Given the description of an element on the screen output the (x, y) to click on. 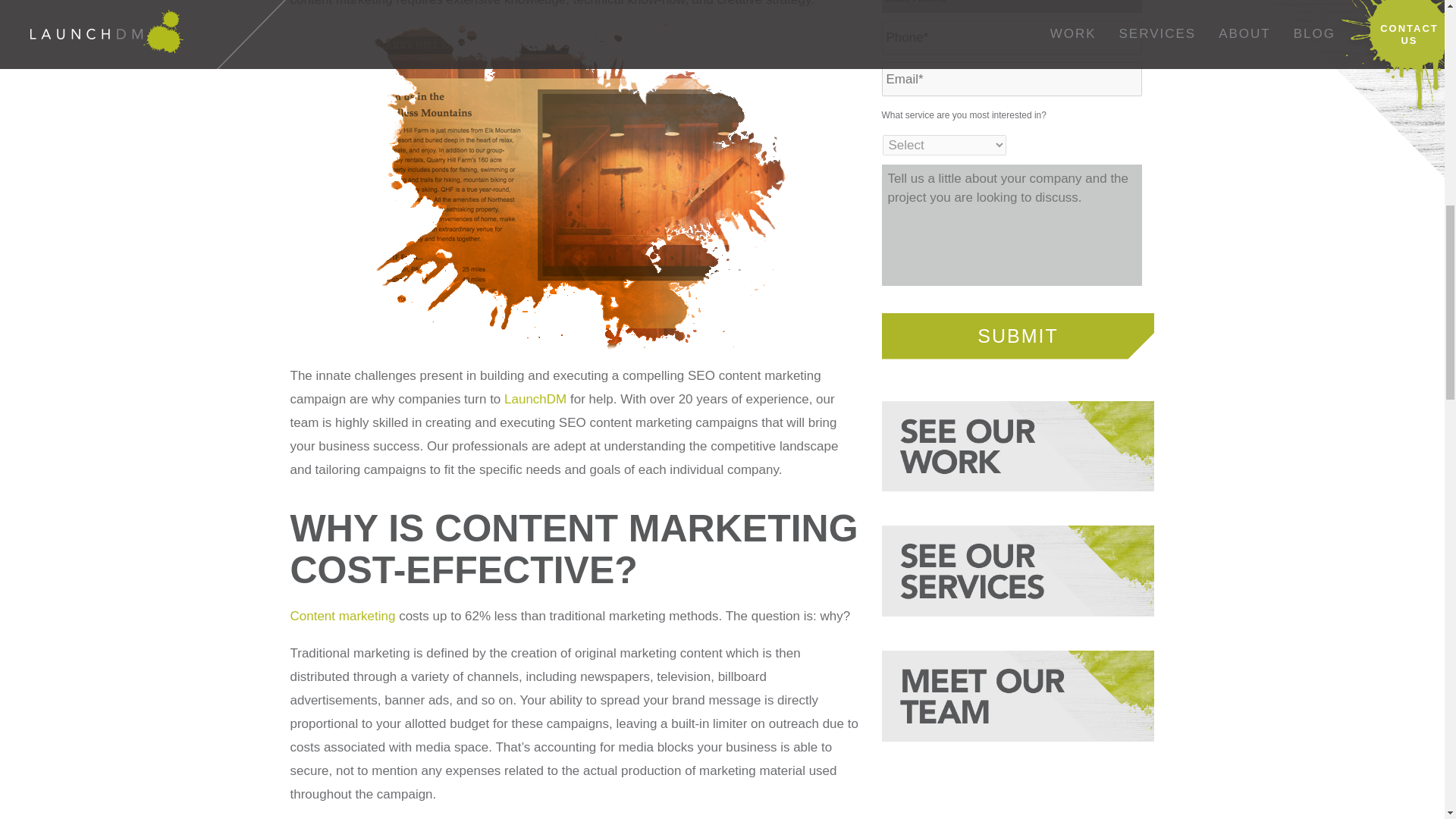
LaunchDM (534, 398)
Content marketing (341, 616)
SUBMIT (1017, 335)
